Given the description of an element on the screen output the (x, y) to click on. 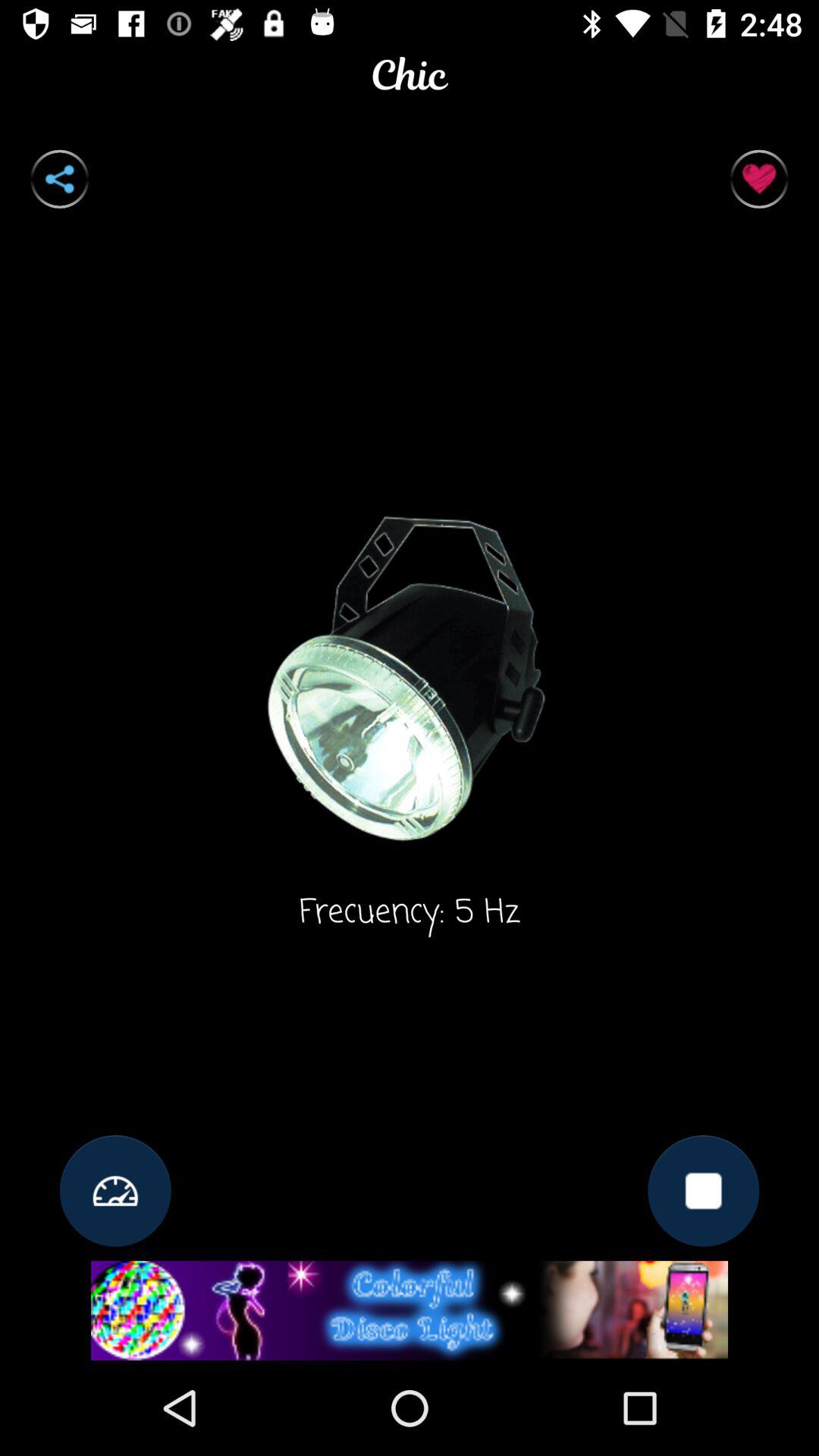
change the display to a gauge (115, 1190)
